Given the description of an element on the screen output the (x, y) to click on. 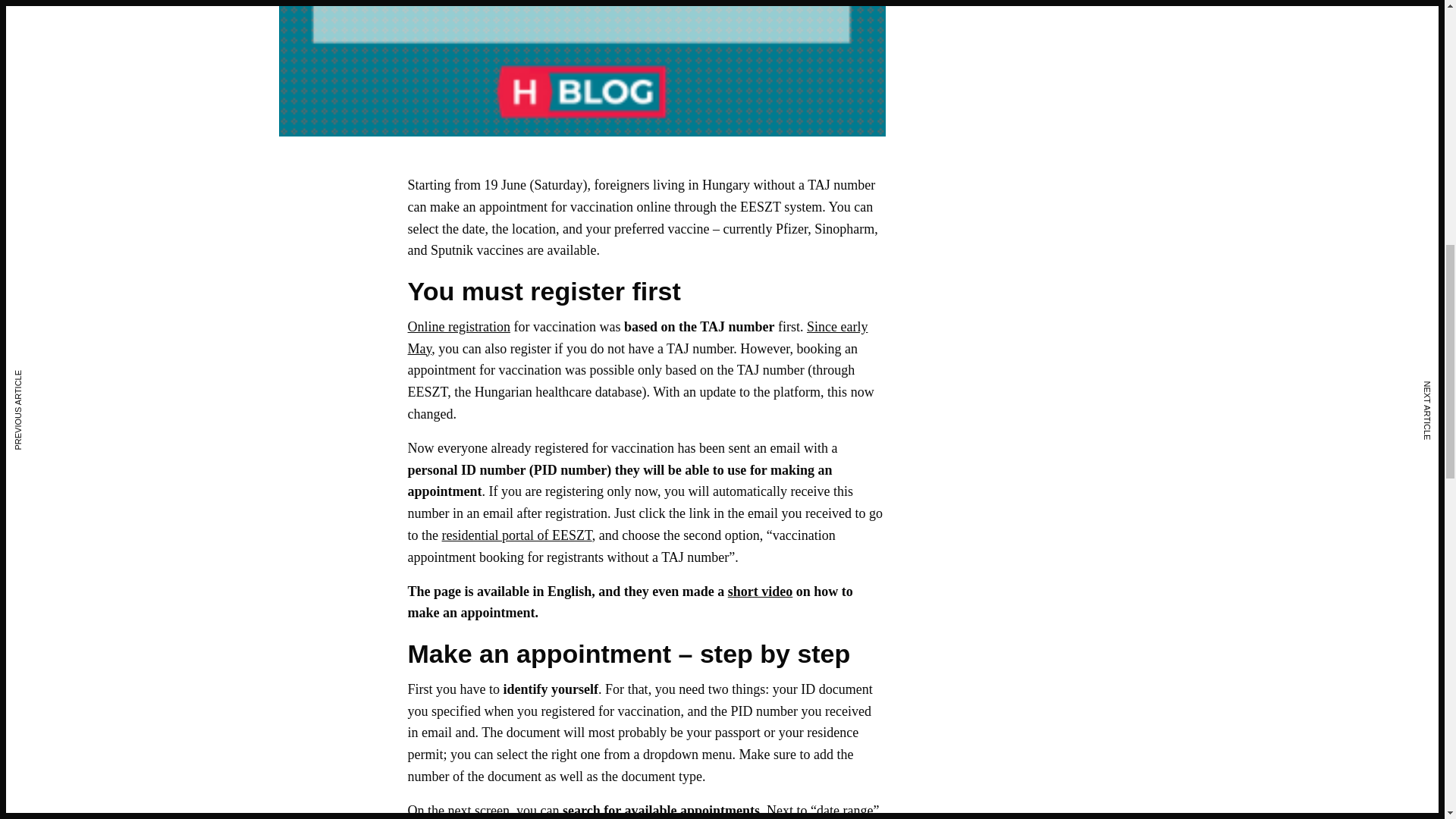
Since early May (637, 337)
residential portal of EESZT (517, 534)
Online registration (459, 326)
short video (760, 590)
